Given the description of an element on the screen output the (x, y) to click on. 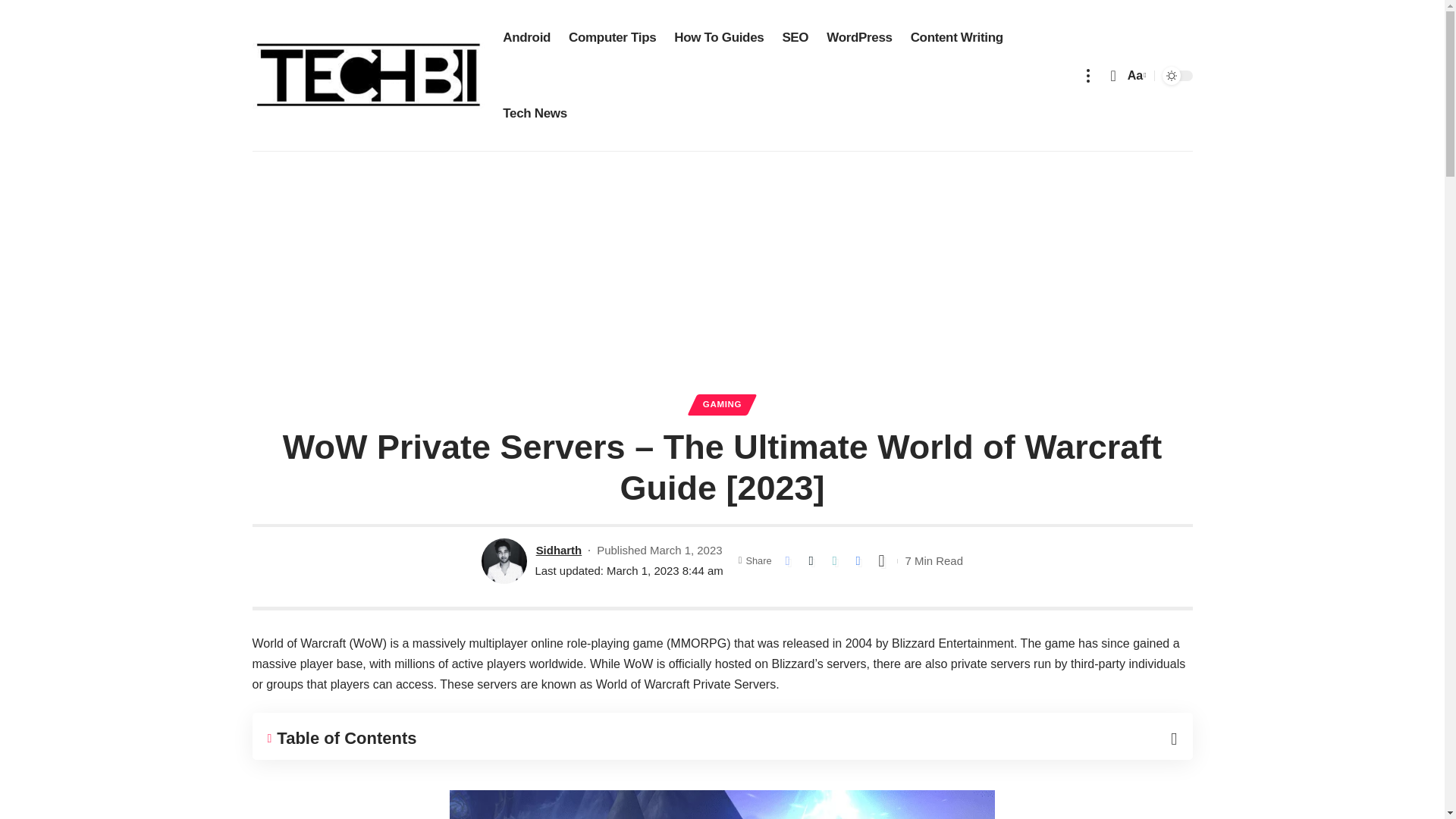
Aa (1135, 75)
Computer Tips (612, 38)
Content Writing (956, 38)
How To Guides (719, 38)
TechBii (367, 75)
GAMING (722, 404)
Tech News (534, 113)
Sidharth (558, 549)
WordPress (858, 38)
